Given the description of an element on the screen output the (x, y) to click on. 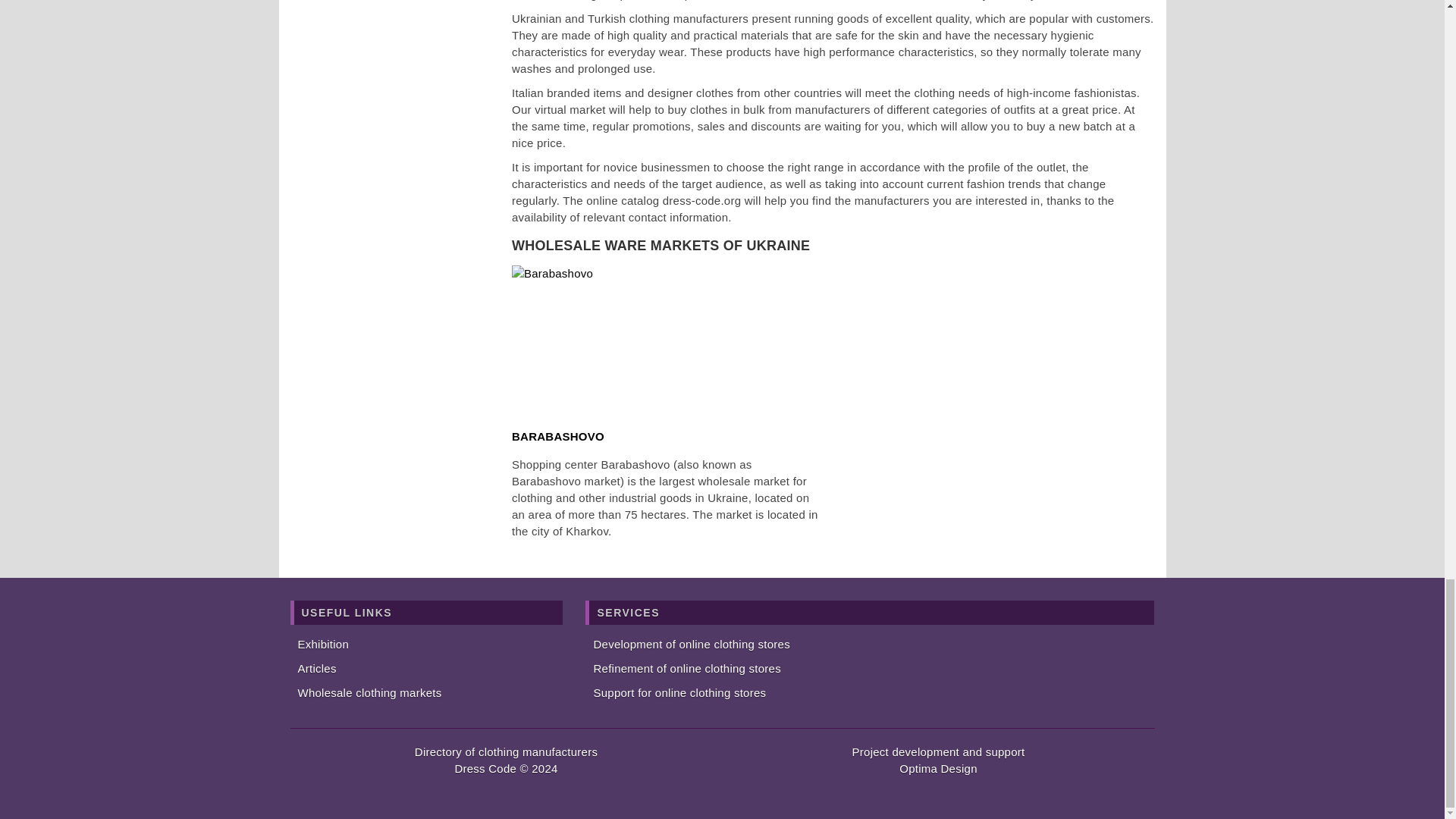
Optima Design (937, 768)
BARABASHOVO (558, 436)
Barabashovo (663, 340)
Refinement of online clothing stores (686, 667)
Exhibition (323, 644)
Development of online clothing stores (690, 644)
Barabashovo (667, 340)
Support for online clothing stores (678, 692)
Wholesale clothing markets (369, 692)
Articles (316, 667)
